Given the description of an element on the screen output the (x, y) to click on. 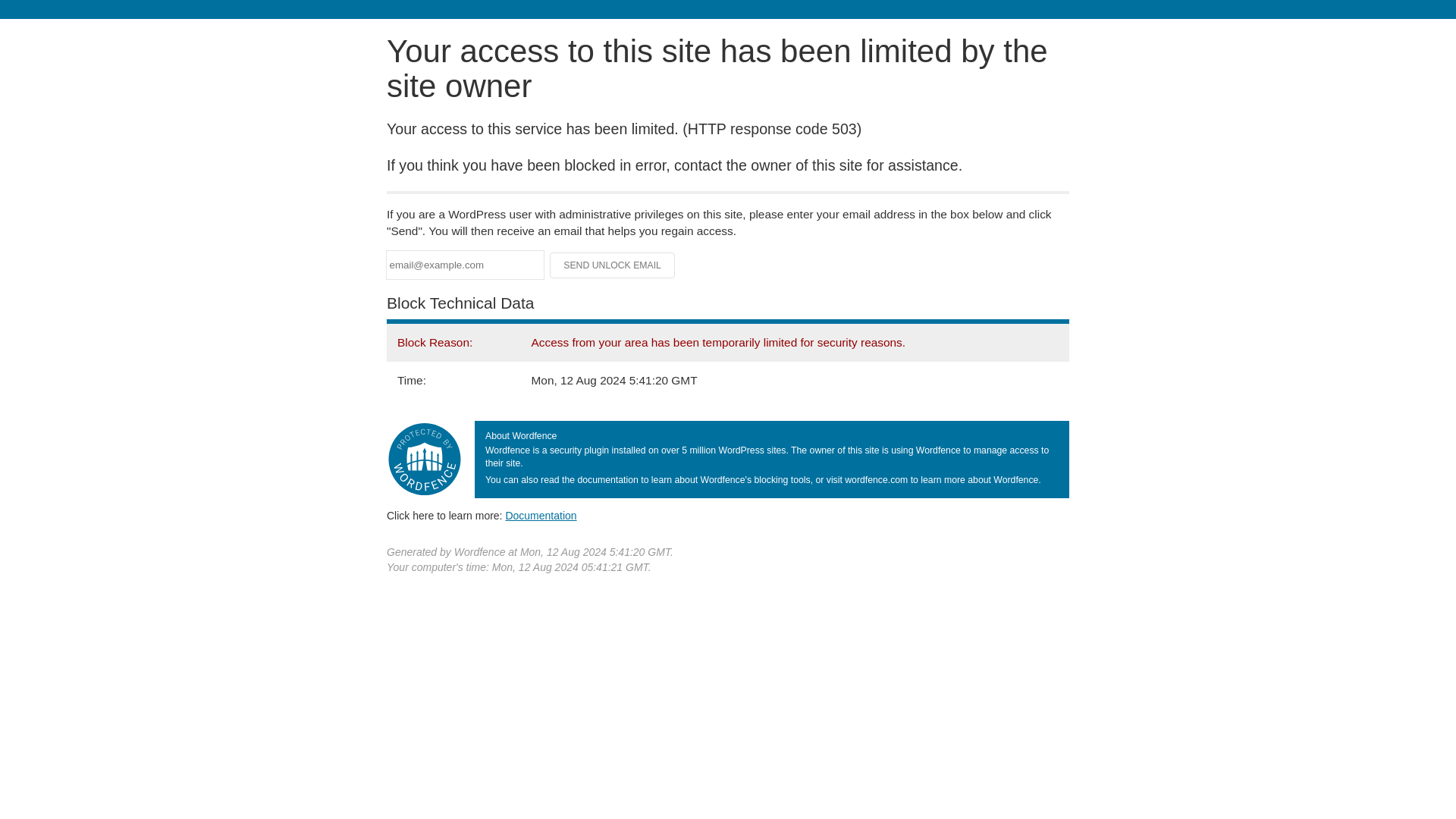
Documentation (540, 515)
Send Unlock Email (612, 265)
Send Unlock Email (612, 265)
